Given the description of an element on the screen output the (x, y) to click on. 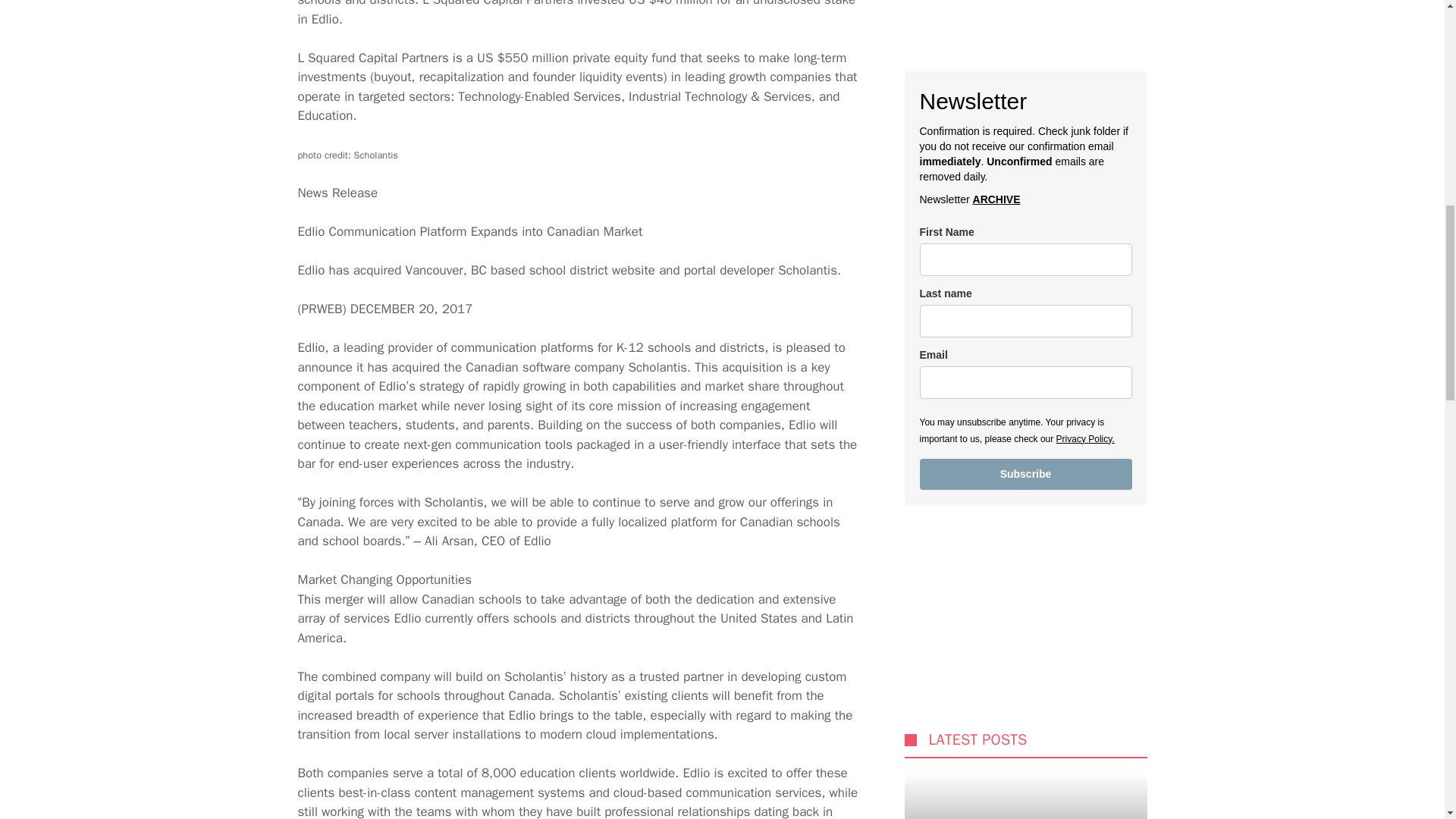
Scroll back to top (1406, 720)
Advertisement (1053, 408)
